Given the description of an element on the screen output the (x, y) to click on. 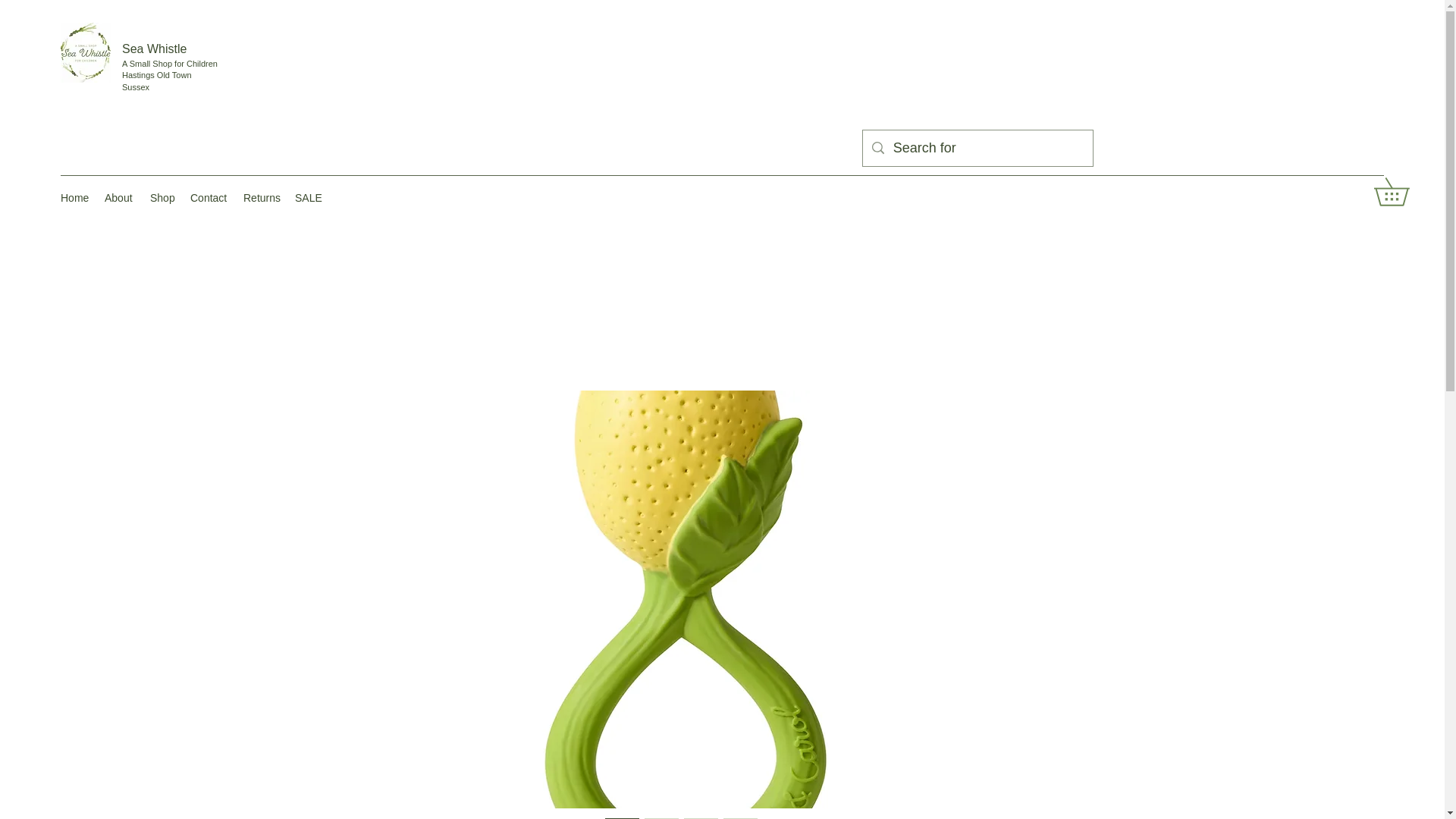
SALE (306, 197)
Returns (260, 197)
Sea Whistle (154, 48)
Shop (162, 197)
Home (74, 197)
A Small Shop for Children  (170, 62)
About (119, 197)
Contact (209, 197)
